Given the description of an element on the screen output the (x, y) to click on. 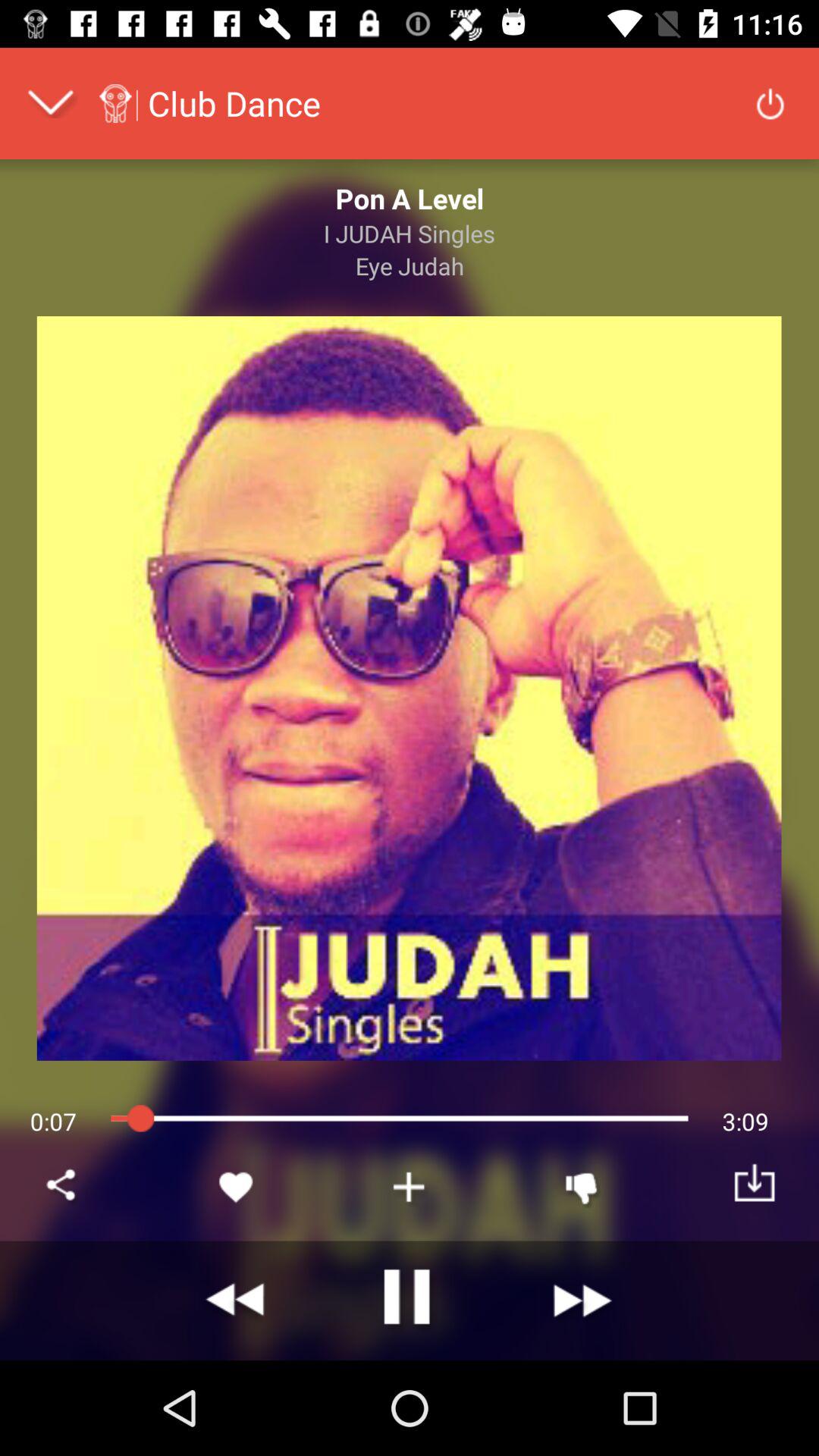
rewind (236, 1300)
